Given the description of an element on the screen output the (x, y) to click on. 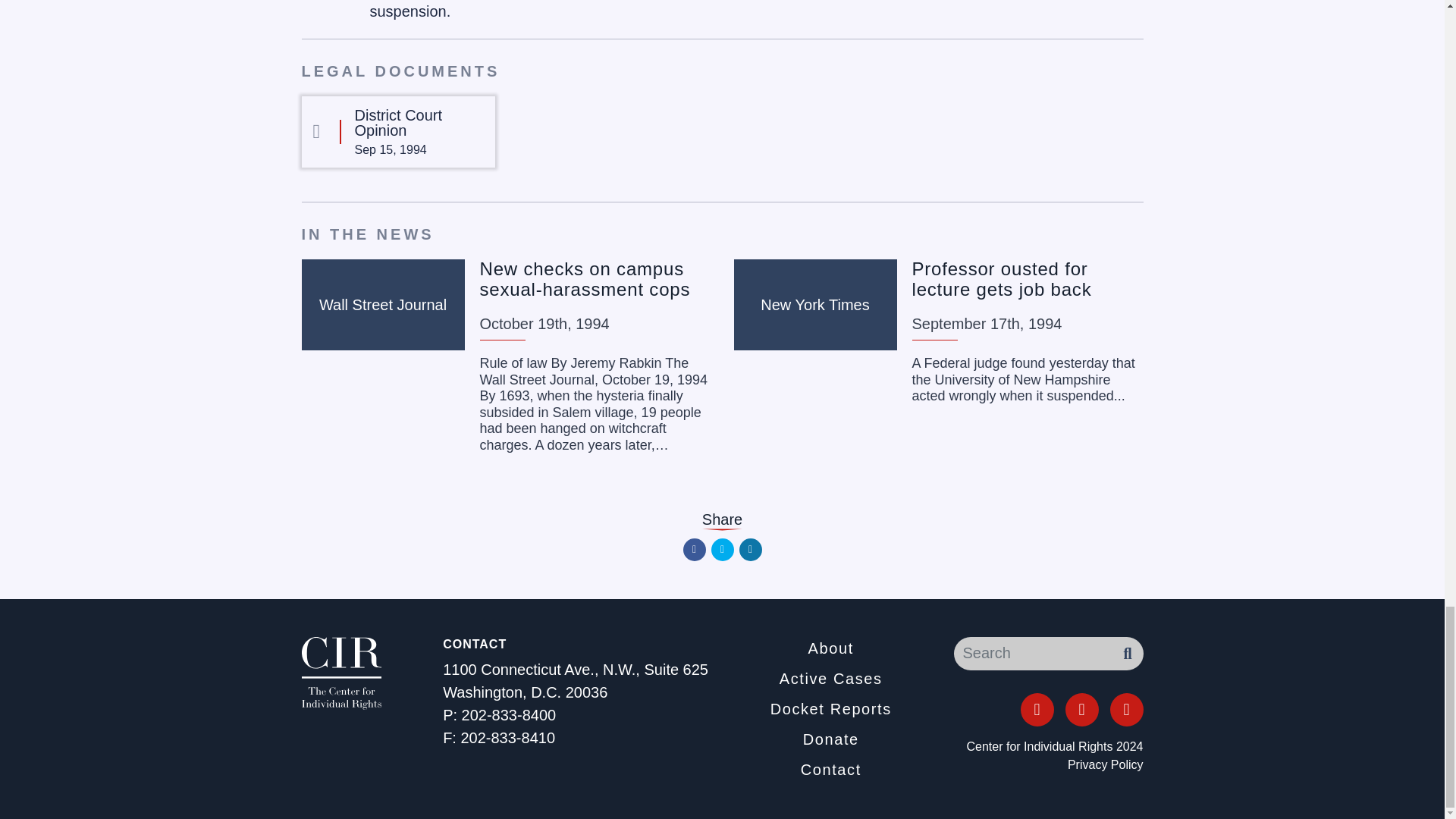
Professor ousted for lecture gets job back (1000, 278)
New checks on campus sexual-harassment cops (584, 278)
About (830, 648)
New checks on campus sexual-harassment cops (584, 278)
Facebook (693, 549)
LinkedIn (749, 549)
Donate (831, 739)
Twitter (1080, 709)
New York Times (814, 304)
Contact (830, 769)
Professor ousted for lecture gets job back (1000, 278)
Wall Street Journal (382, 304)
LinkedIn (1125, 709)
Active Cases (830, 678)
Twitter (722, 549)
